Given the description of an element on the screen output the (x, y) to click on. 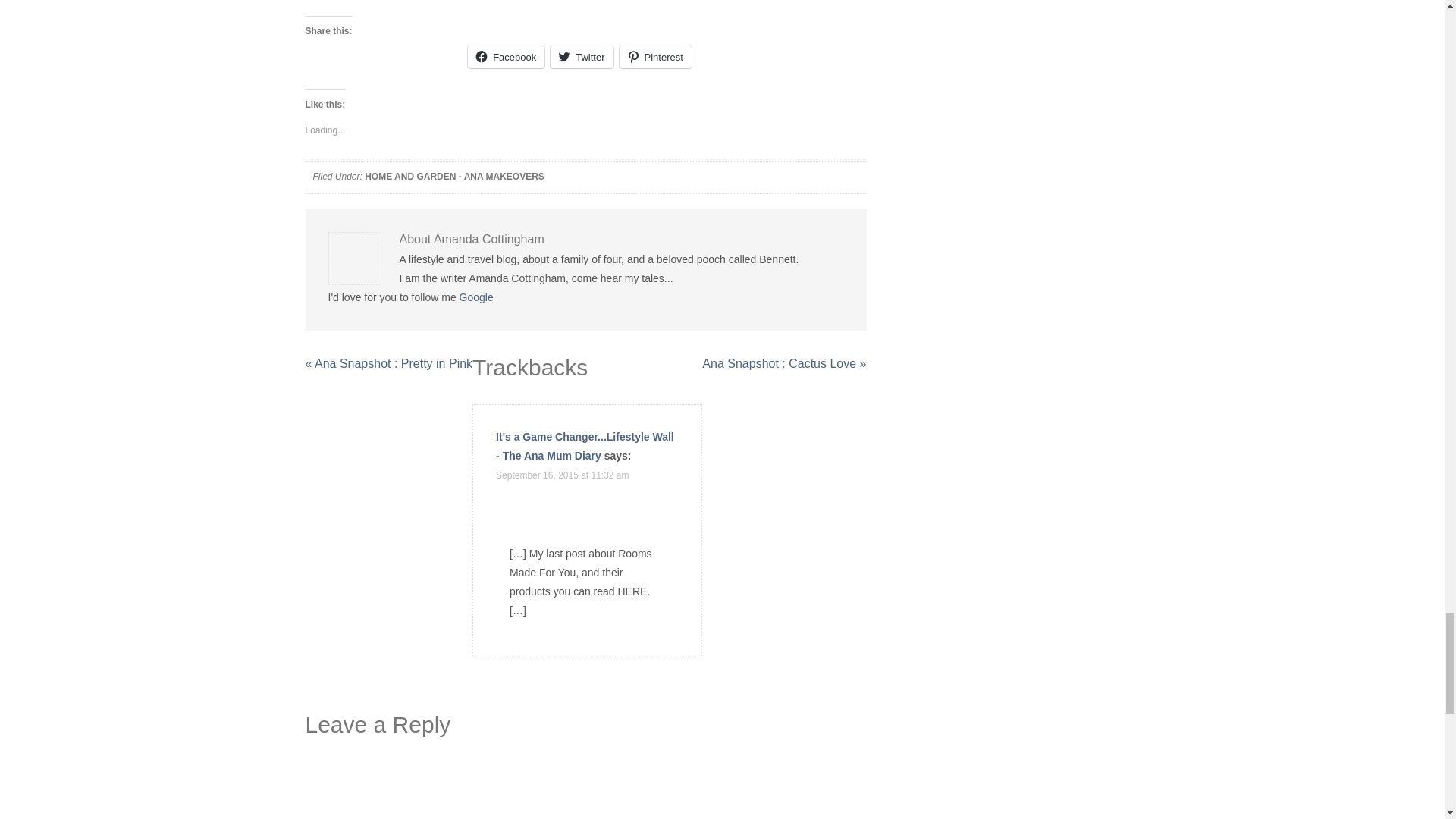
Click to share on Twitter (581, 56)
Click to share on Facebook (505, 56)
Comment Form (585, 782)
Facebook (505, 56)
Click to share on Pinterest (655, 56)
